Given the description of an element on the screen output the (x, y) to click on. 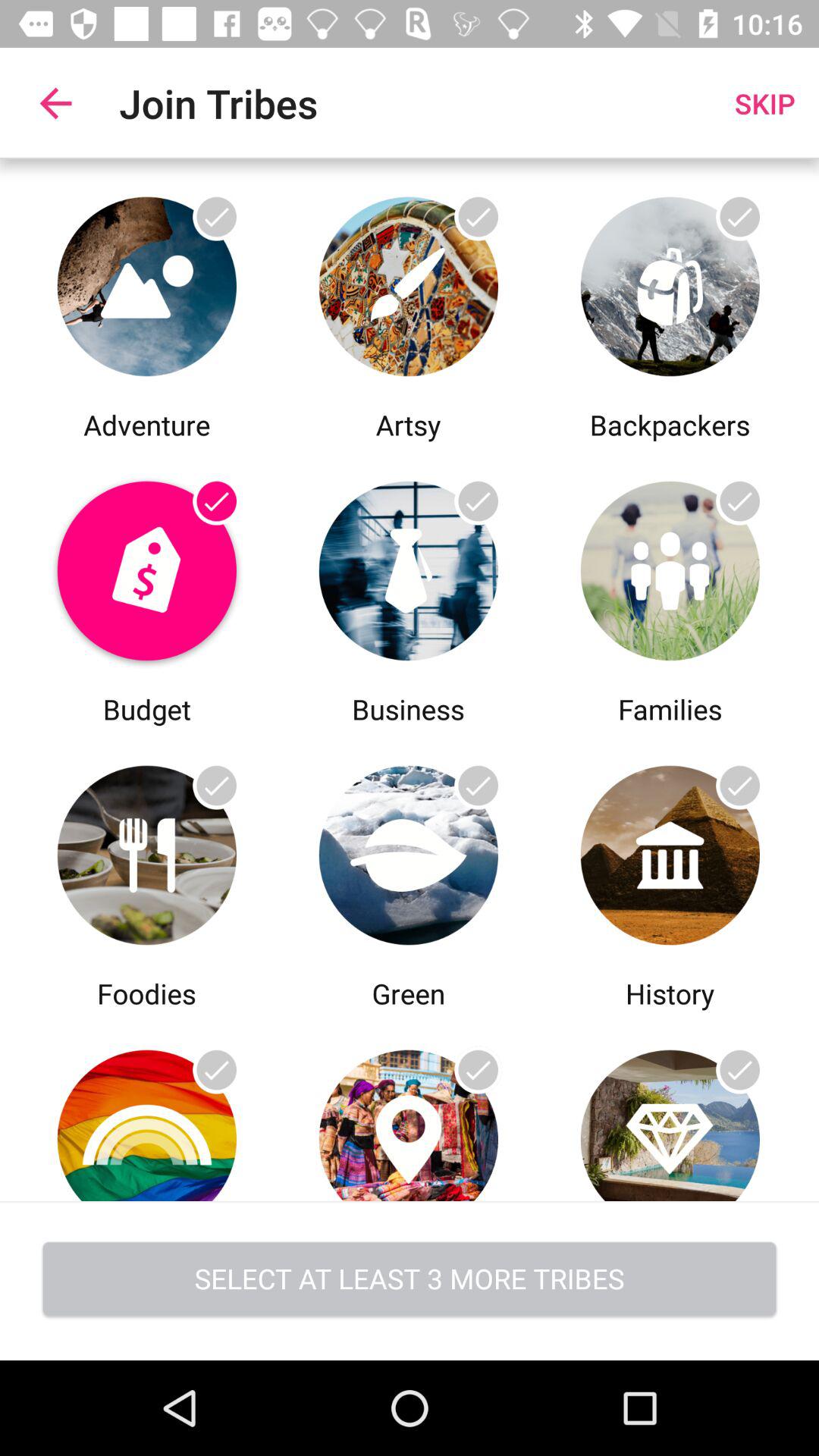
join families tribe (669, 566)
